Given the description of an element on the screen output the (x, y) to click on. 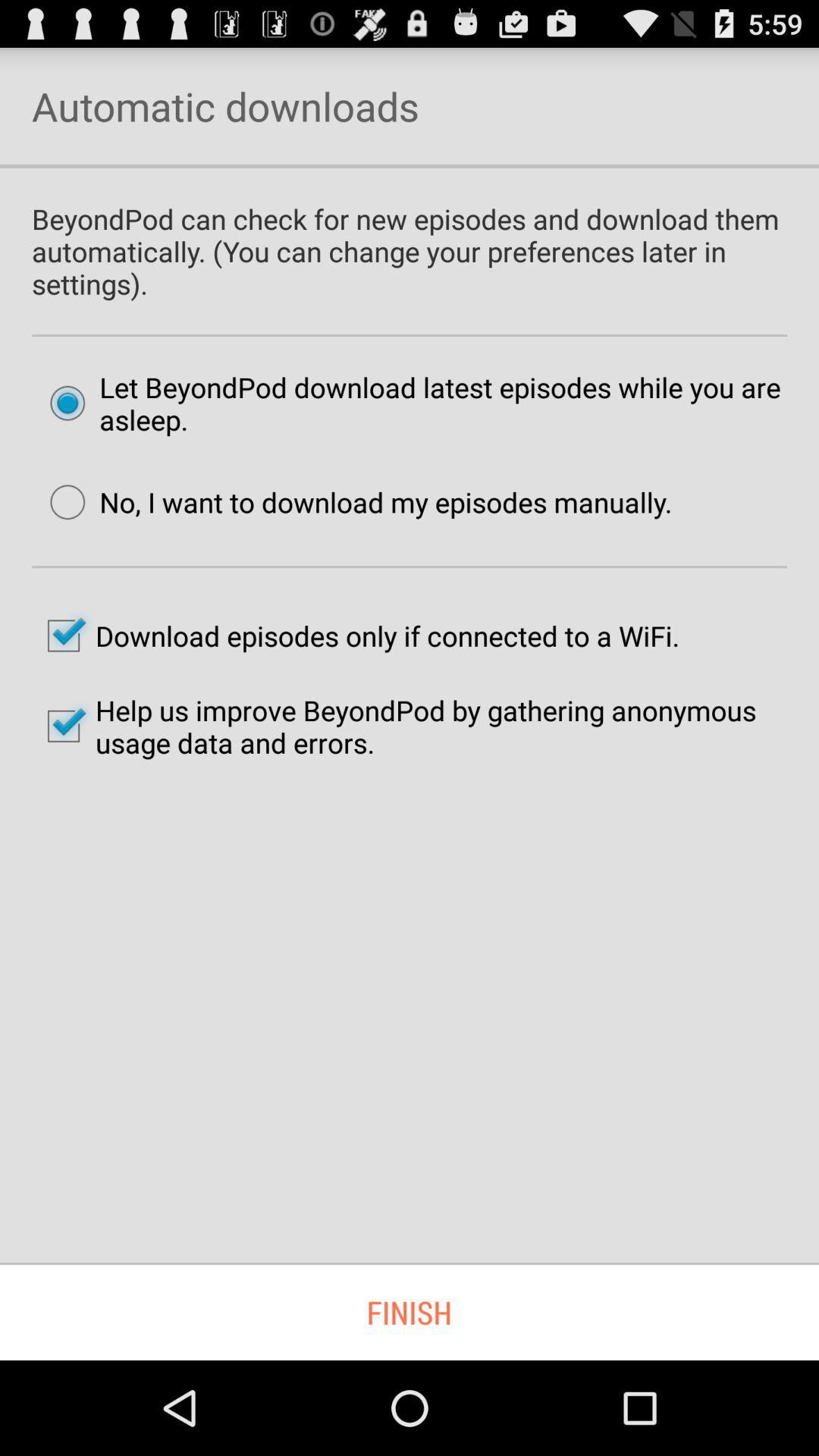
swipe to the no i want item (353, 502)
